Given the description of an element on the screen output the (x, y) to click on. 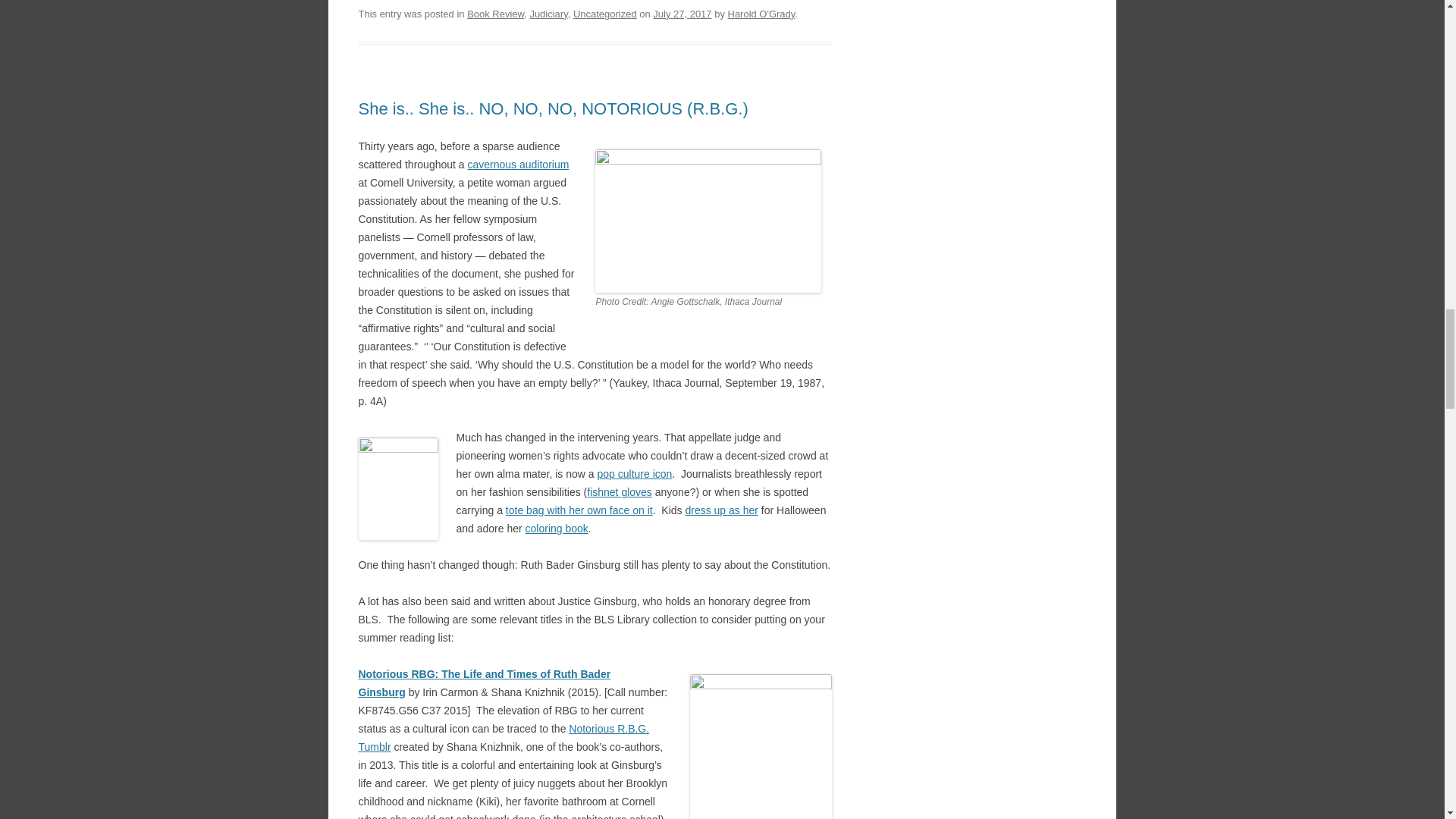
July 27, 2017 (681, 13)
pop culture icon (633, 473)
View all posts by Harold O'Grady (761, 13)
Judiciary (548, 13)
tote bag with her own face on it (578, 510)
Book Review (495, 13)
fishnet gloves (619, 491)
coloring book (556, 528)
cavernous auditorium (518, 164)
Harold O'Grady (761, 13)
